Given the description of an element on the screen output the (x, y) to click on. 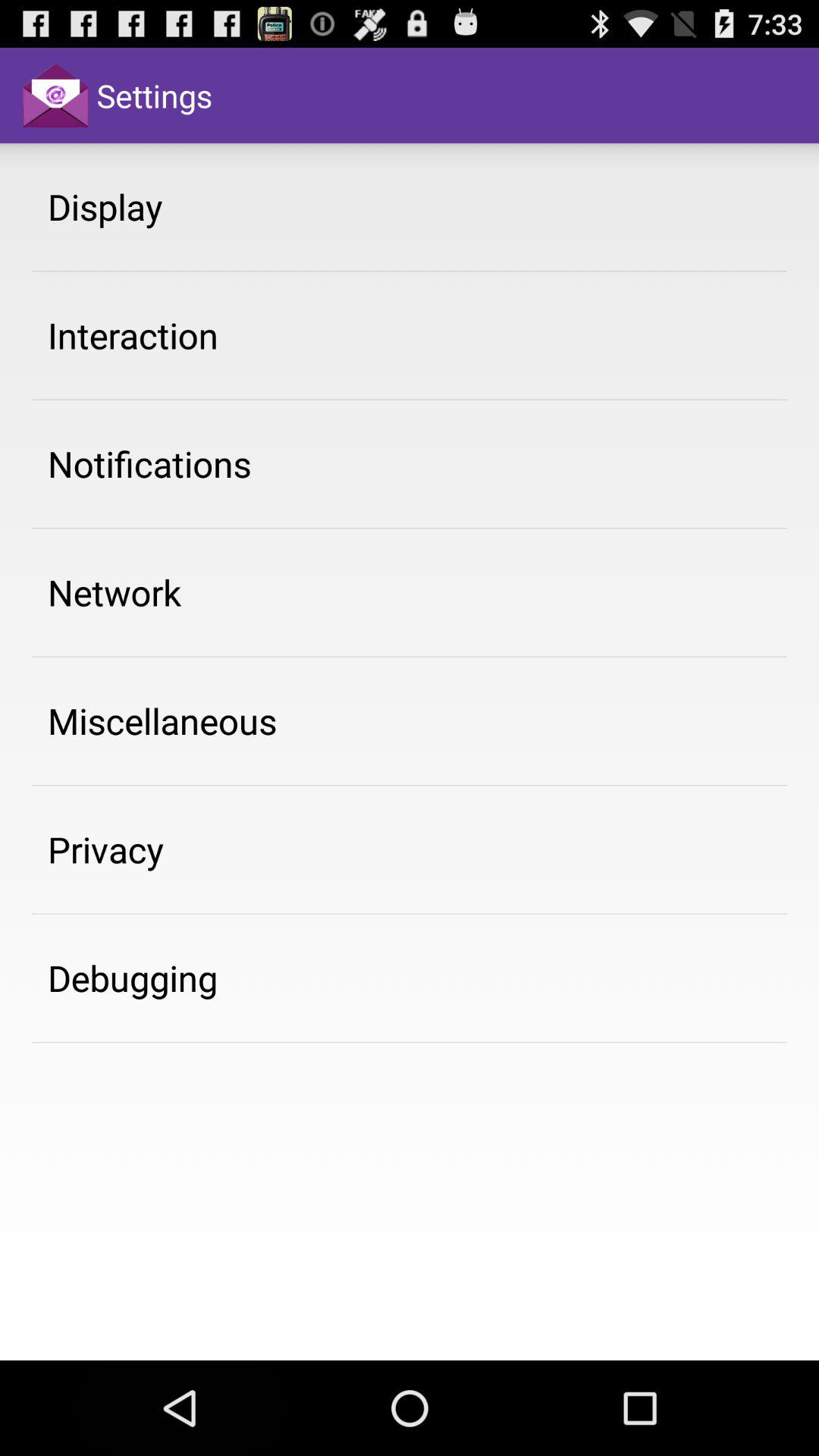
press the notifications item (149, 463)
